Given the description of an element on the screen output the (x, y) to click on. 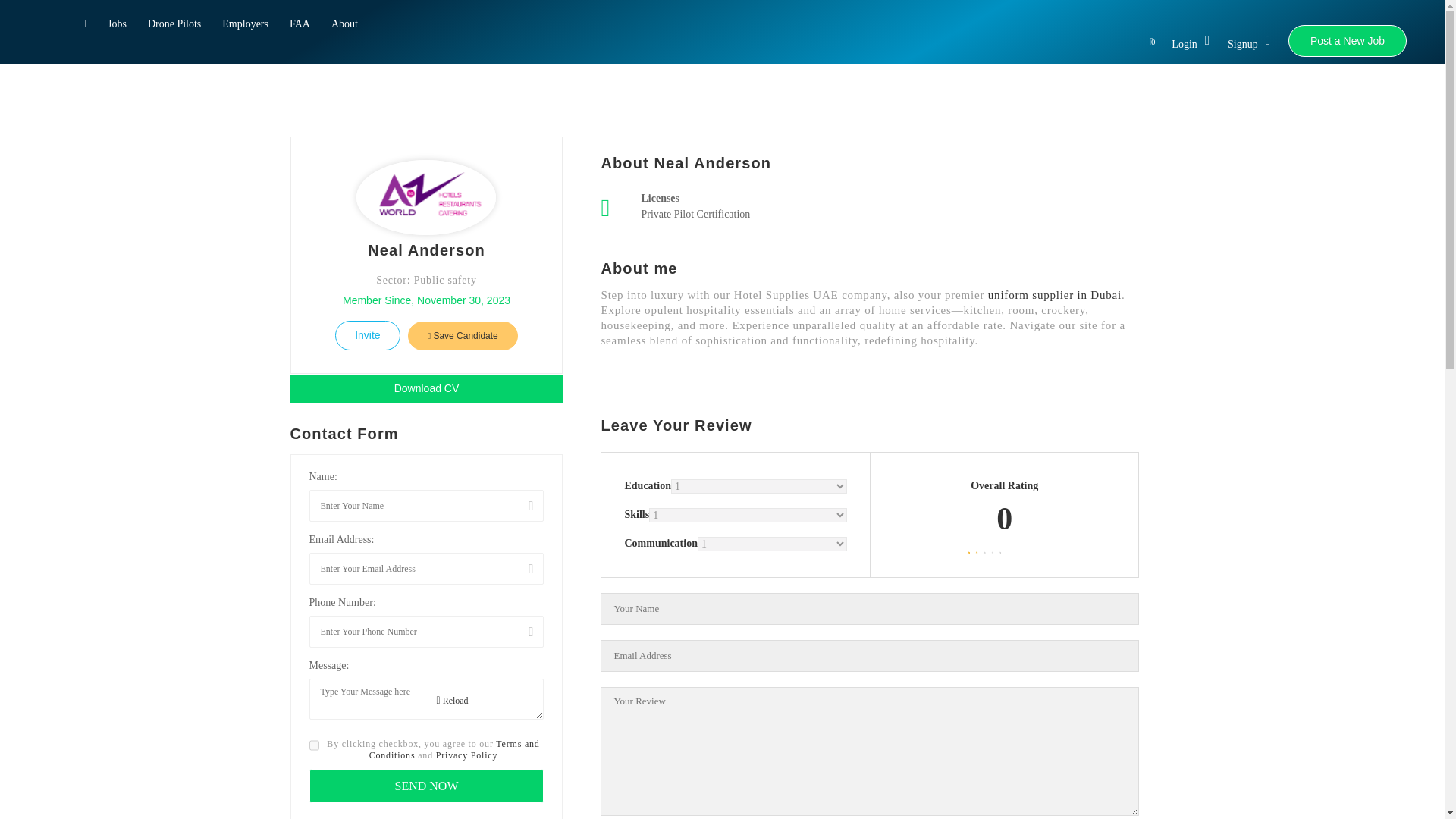
Send now (426, 786)
uniform supplier in Dubai (1052, 295)
Send now (426, 786)
Jobs (116, 26)
Reload (452, 700)
Download CV (425, 388)
Send now (426, 786)
Login (1190, 44)
0 (1147, 41)
Drone Pilots (174, 26)
Invite (366, 335)
Post a New Job (1347, 40)
Employers (244, 26)
Terms and Conditions (454, 749)
FAA (299, 26)
